Given the description of an element on the screen output the (x, y) to click on. 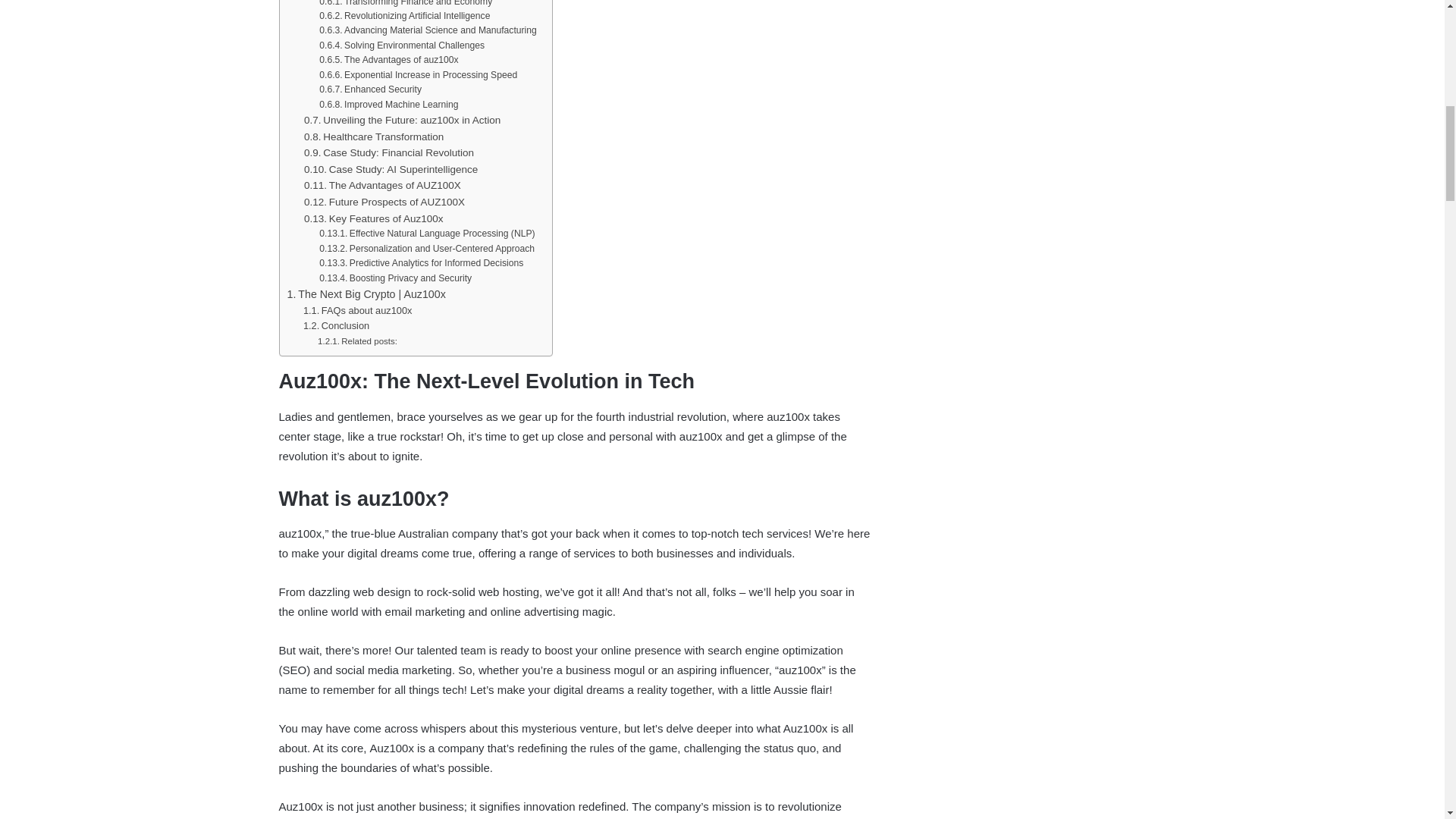
Transforming Finance and Economy (405, 4)
The Advantages of auz100x (388, 60)
Solving Environmental Challenges (401, 45)
Advancing Material Science and Manufacturing (427, 30)
Revolutionizing Artificial Intelligence (403, 16)
